Given the description of an element on the screen output the (x, y) to click on. 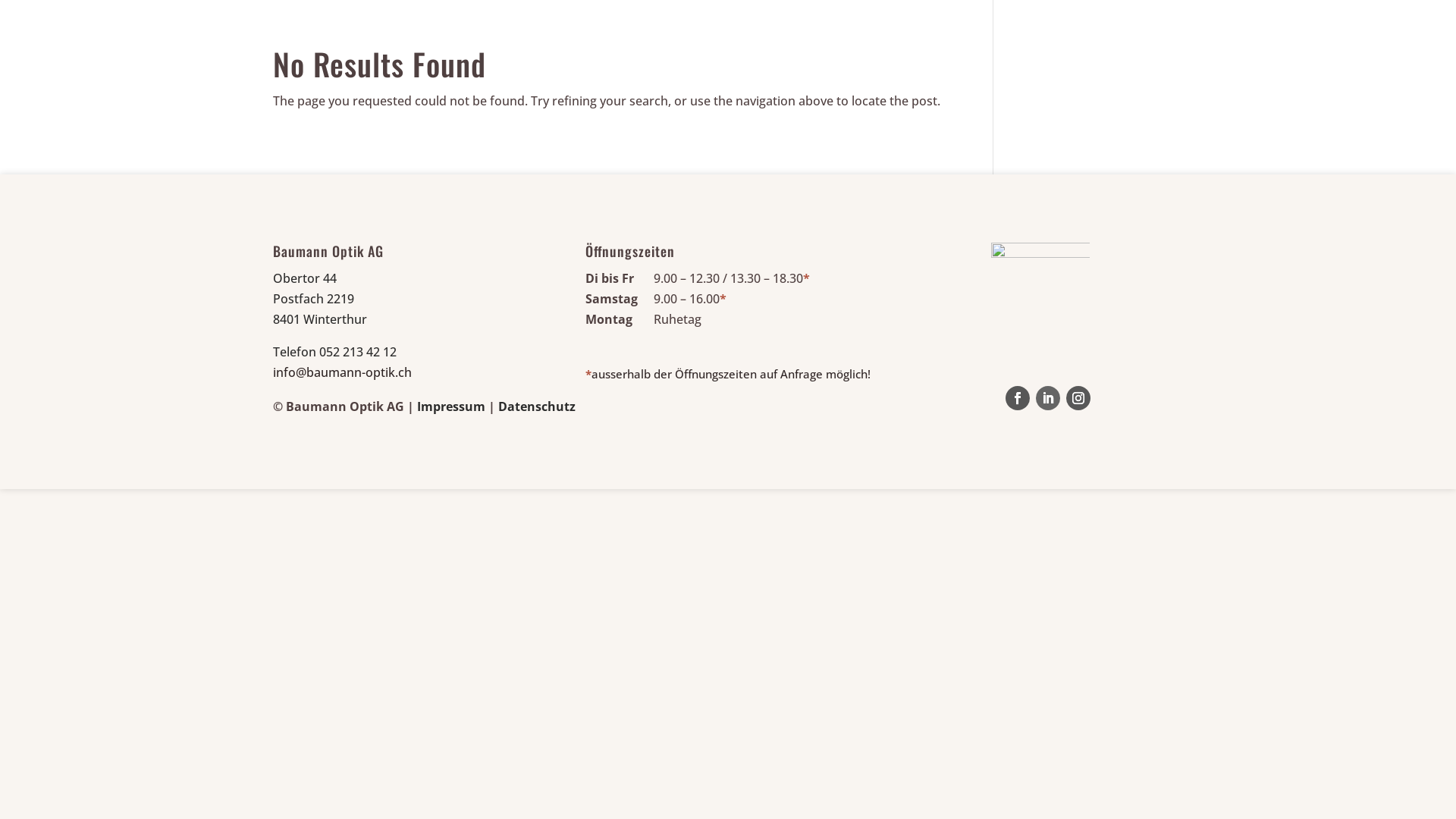
Datenschutz Element type: text (536, 405)
logo_gesundheistoptik Element type: hover (1040, 289)
Impressum Element type: text (451, 405)
Follow on Instagram Element type: hover (1078, 397)
info@baumann-optik.ch Element type: text (342, 372)
Follow on Facebook Element type: hover (1017, 397)
Follow on LinkedIn Element type: hover (1047, 397)
